Given the description of an element on the screen output the (x, y) to click on. 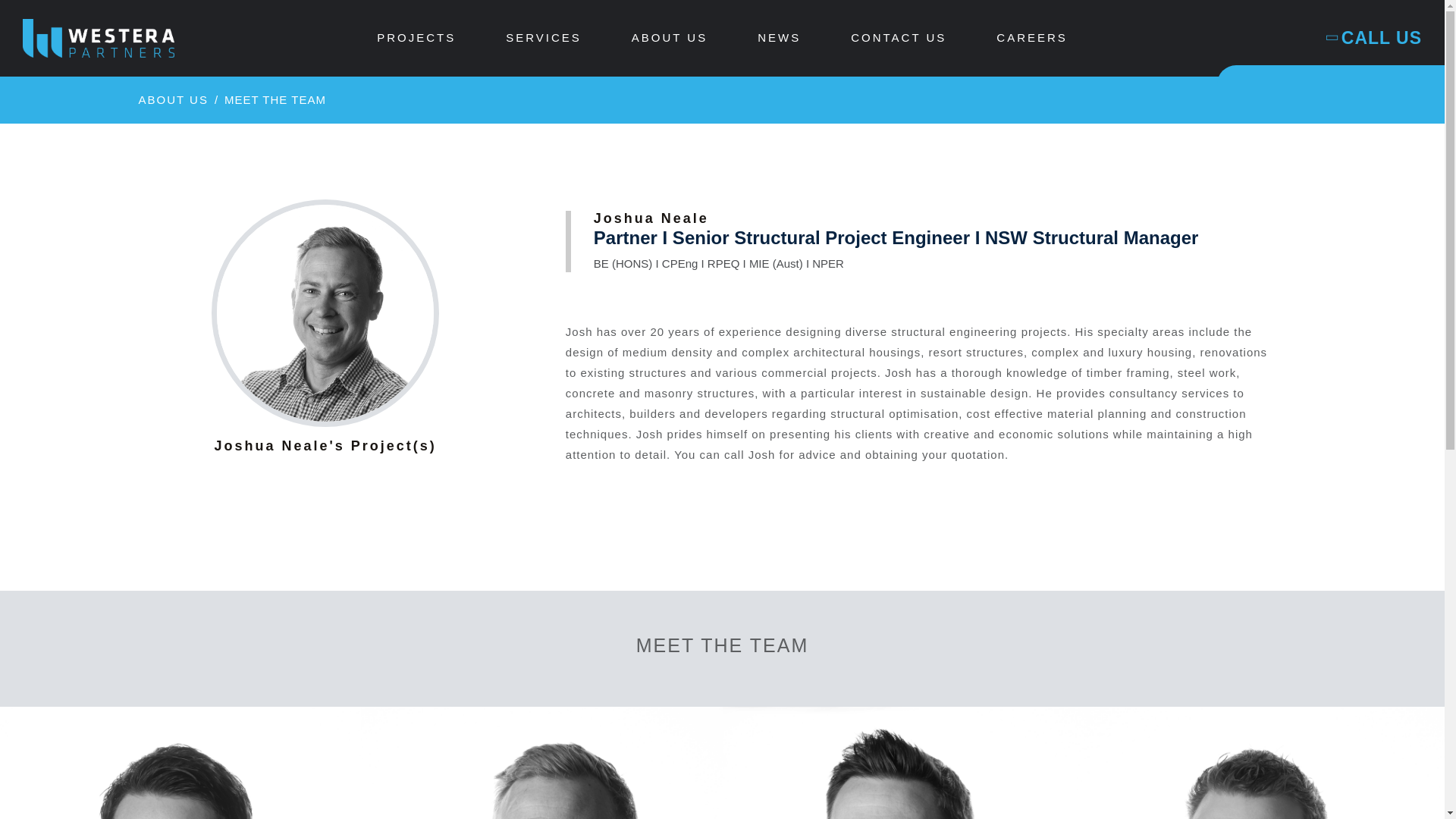
CALL US (1374, 38)
ABOUT US (669, 38)
CONTACT US (898, 38)
ABOUT US (173, 99)
PROJECTS (416, 38)
NEWS (778, 38)
CAREERS (1032, 38)
SERVICES (543, 38)
